Given the description of an element on the screen output the (x, y) to click on. 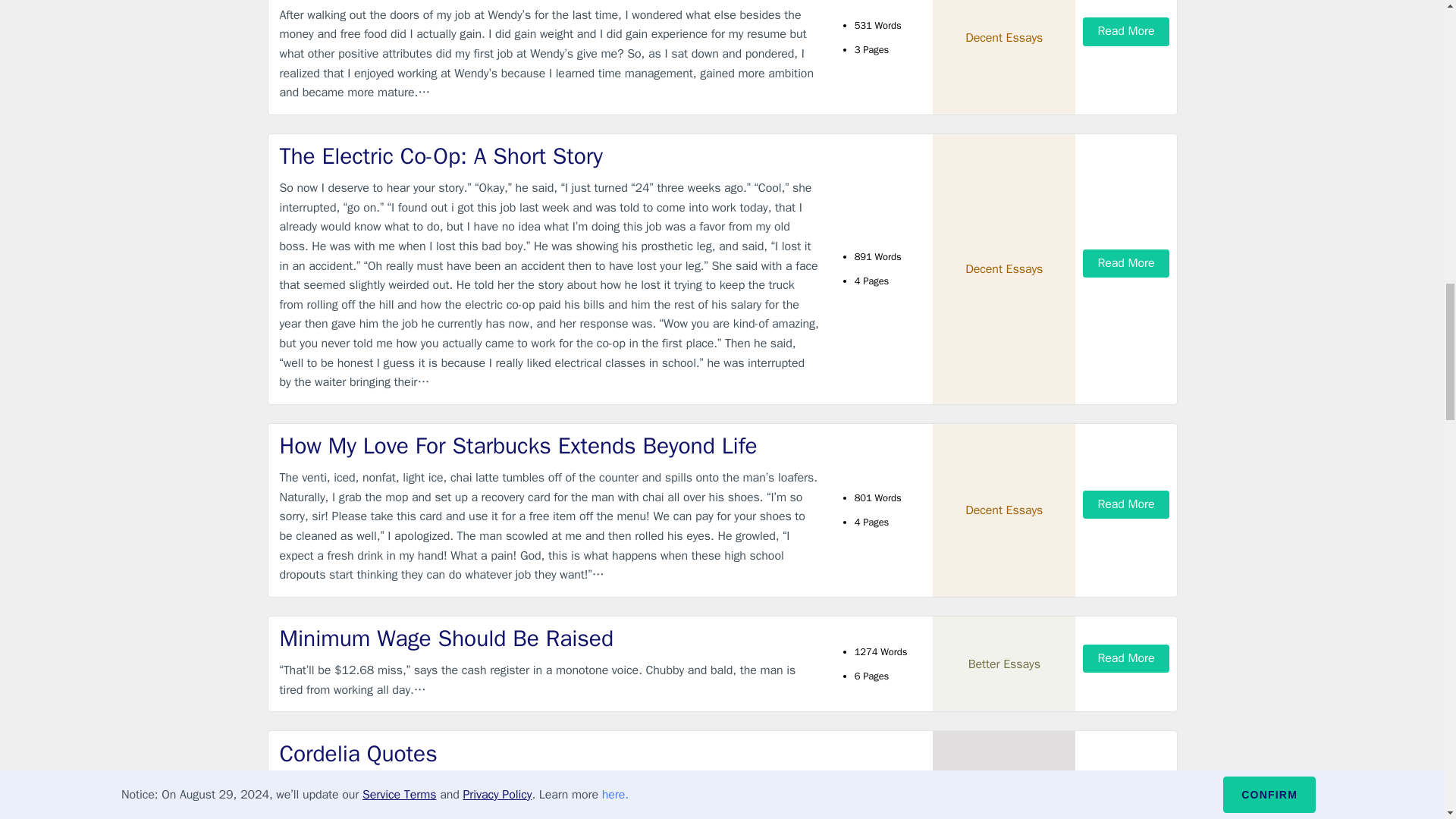
Read More (1126, 658)
Read More (1126, 504)
Read More (1126, 813)
Read More (1126, 263)
Cordelia Quotes (548, 753)
Minimum Wage Should Be Raised (548, 638)
The Electric Co-Op: A Short Story (548, 155)
How My Love For Starbucks Extends Beyond Life (548, 445)
Read More (1126, 31)
